Given the description of an element on the screen output the (x, y) to click on. 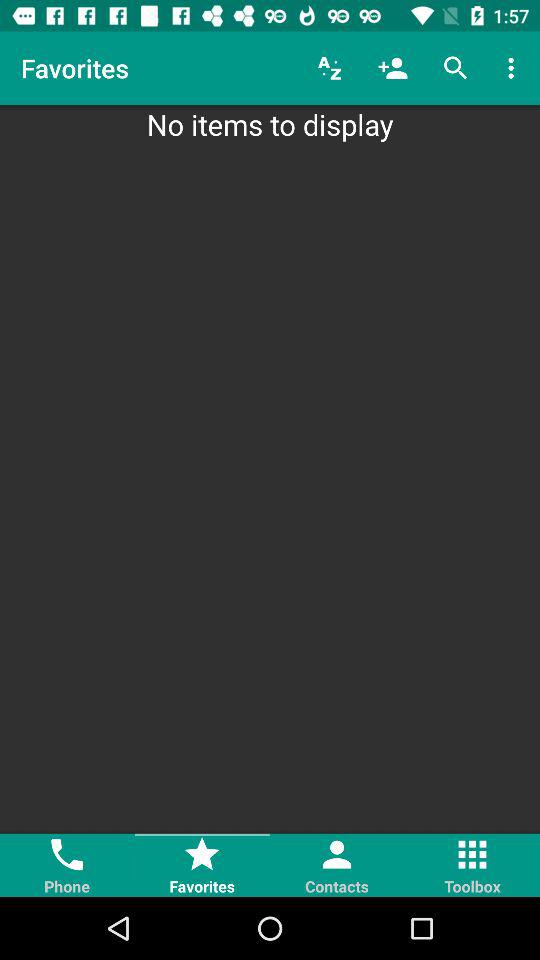
click on the icon beside favorites at the top of the page (330, 68)
click on the 3 vertical dots at the top right corner of the page (514, 68)
click on contacts icon (337, 865)
click on icon above toolbox (472, 855)
